Given the description of an element on the screen output the (x, y) to click on. 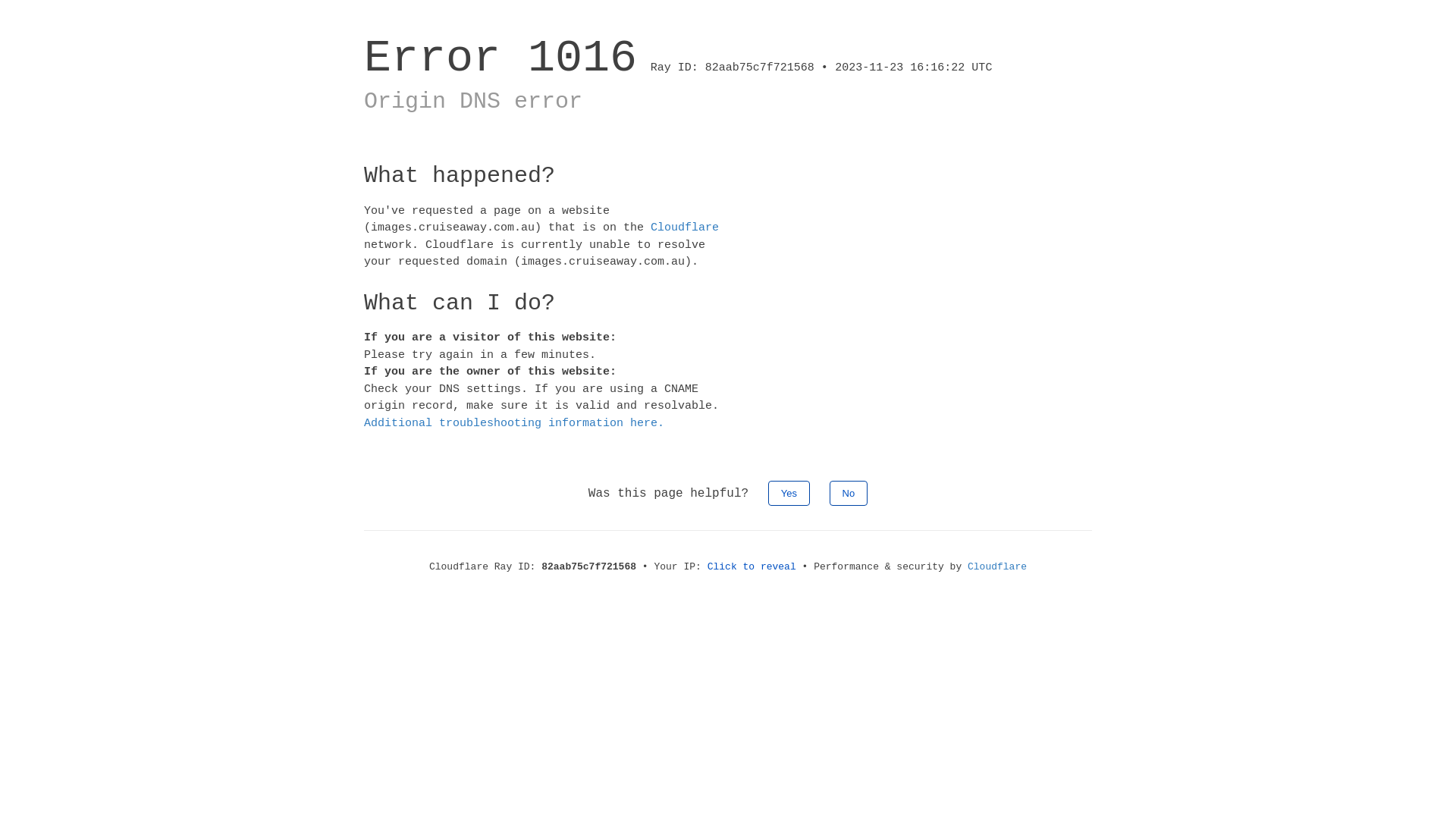
Additional troubleshooting information here. Element type: text (514, 423)
No Element type: text (848, 492)
Yes Element type: text (788, 492)
Cloudflare Element type: text (996, 566)
Cloudflare Element type: text (684, 227)
Click to reveal Element type: text (751, 566)
